Given the description of an element on the screen output the (x, y) to click on. 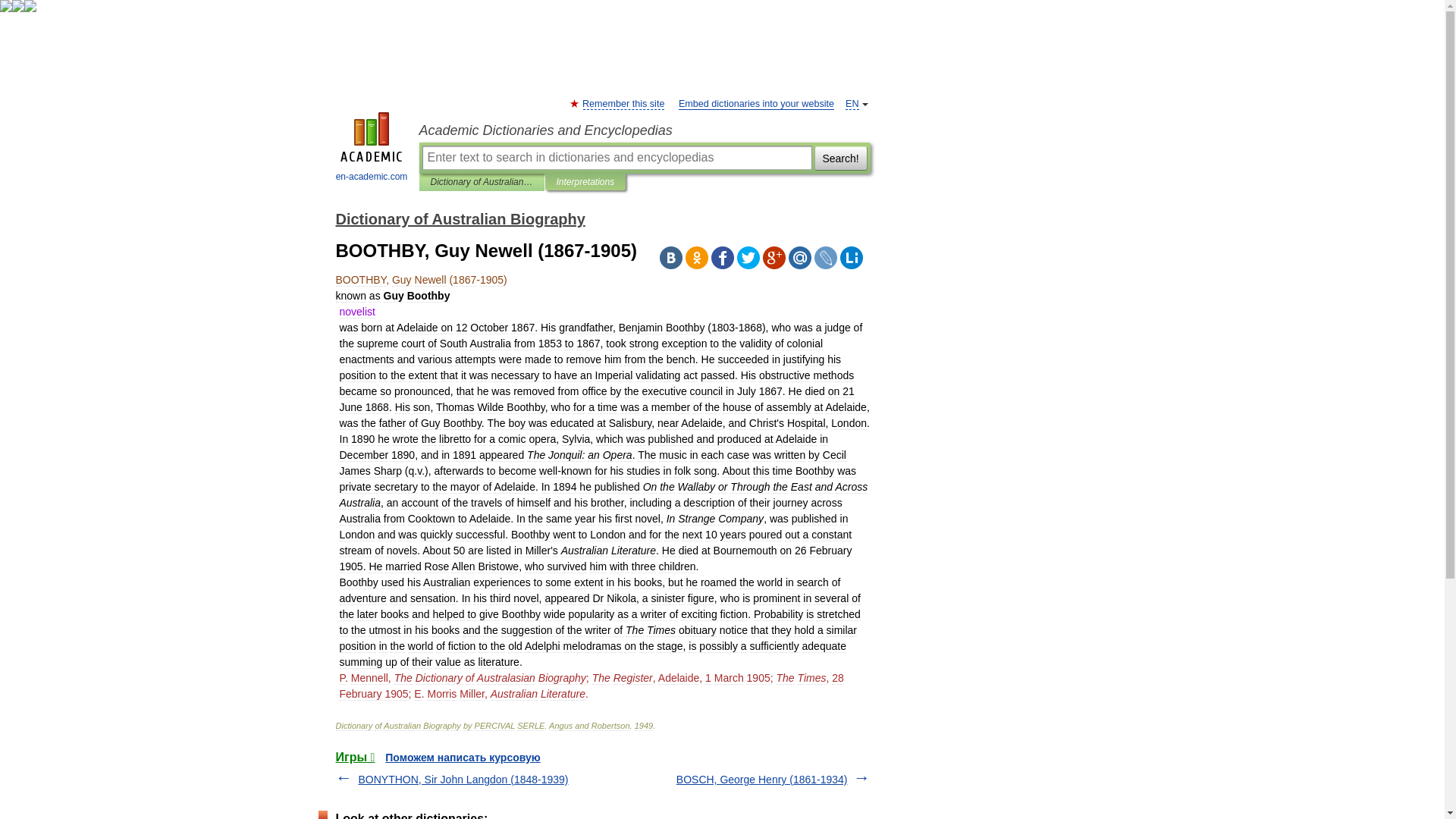
en-academic.com (371, 148)
Search! (840, 157)
Embed dictionaries into your website (756, 103)
Academic Dictionaries and Encyclopedias (644, 130)
Remember this site (623, 103)
Interpretations (585, 181)
EN (852, 103)
Dictionary of Australian Biography (459, 218)
Dictionary of Australian Biography (481, 181)
Enter text to search in dictionaries and encyclopedias (616, 157)
